Given the description of an element on the screen output the (x, y) to click on. 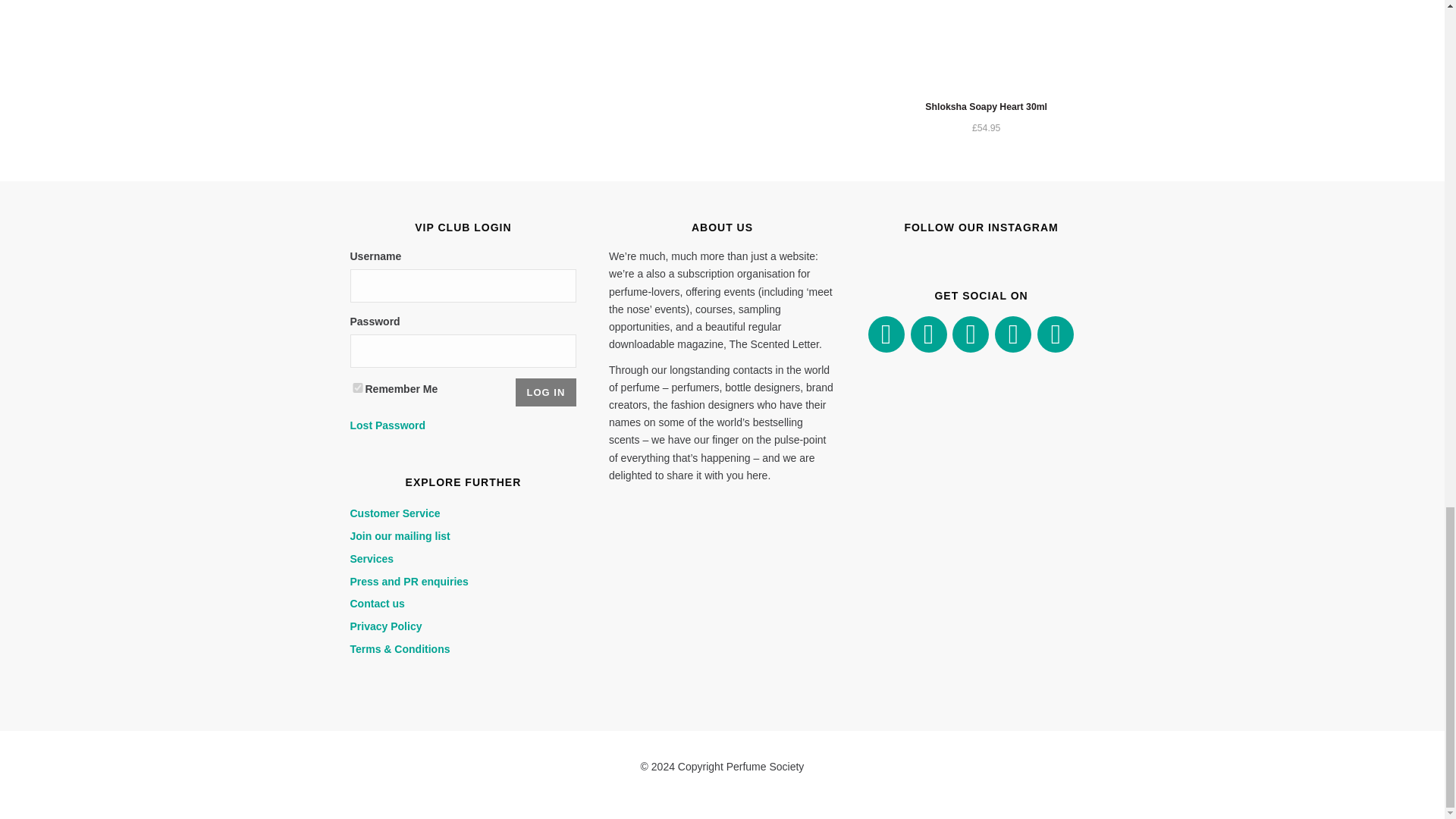
Log In (545, 392)
forever (357, 388)
